Given the description of an element on the screen output the (x, y) to click on. 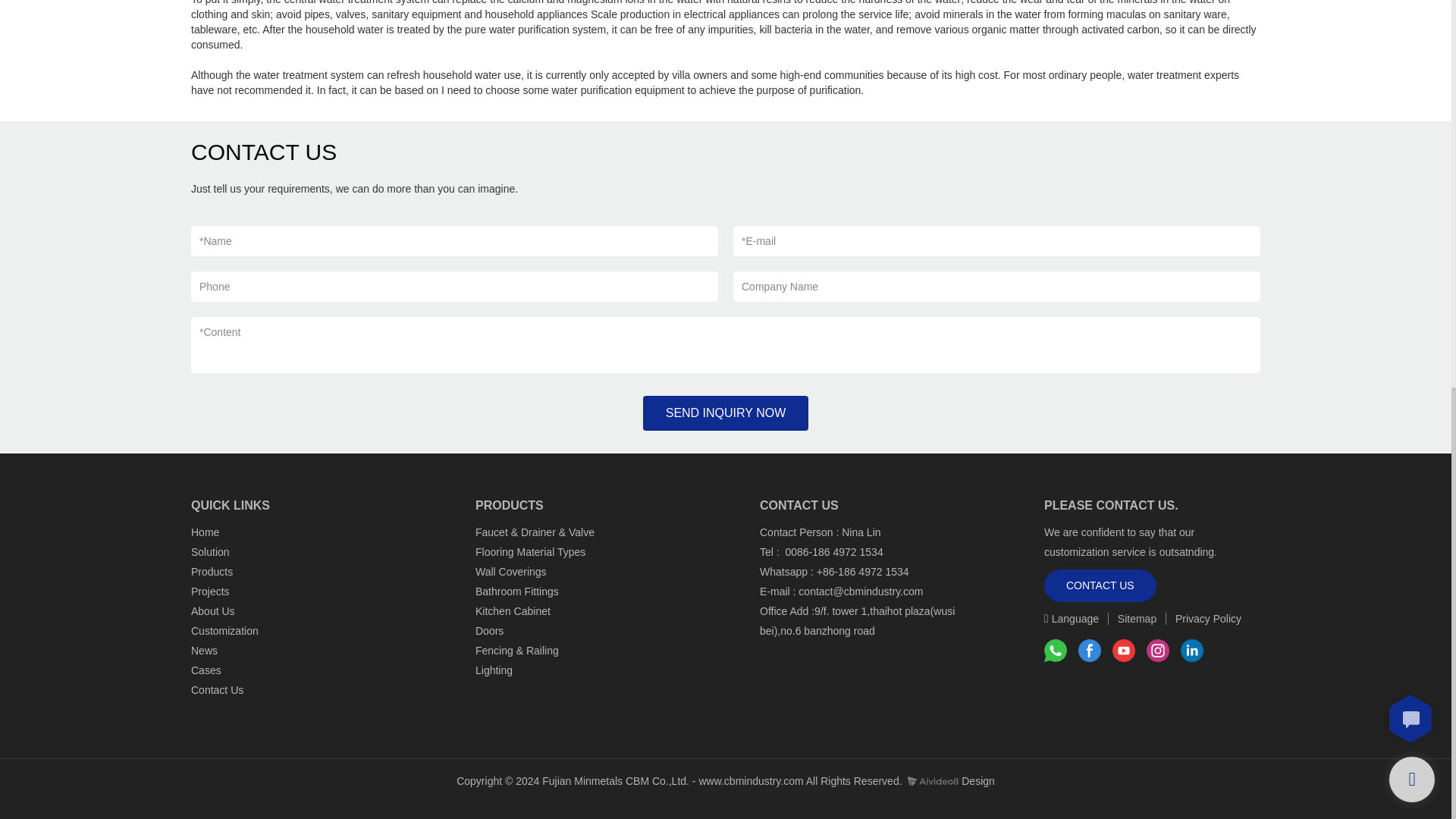
Home (204, 532)
SEND INQUIRY NOW (726, 412)
linkedin (1192, 650)
facebook (1089, 650)
instagram (1158, 650)
whatsapp (1055, 650)
Projects (210, 591)
Products  (212, 571)
youtube (1123, 650)
Solution (210, 551)
